Given the description of an element on the screen output the (x, y) to click on. 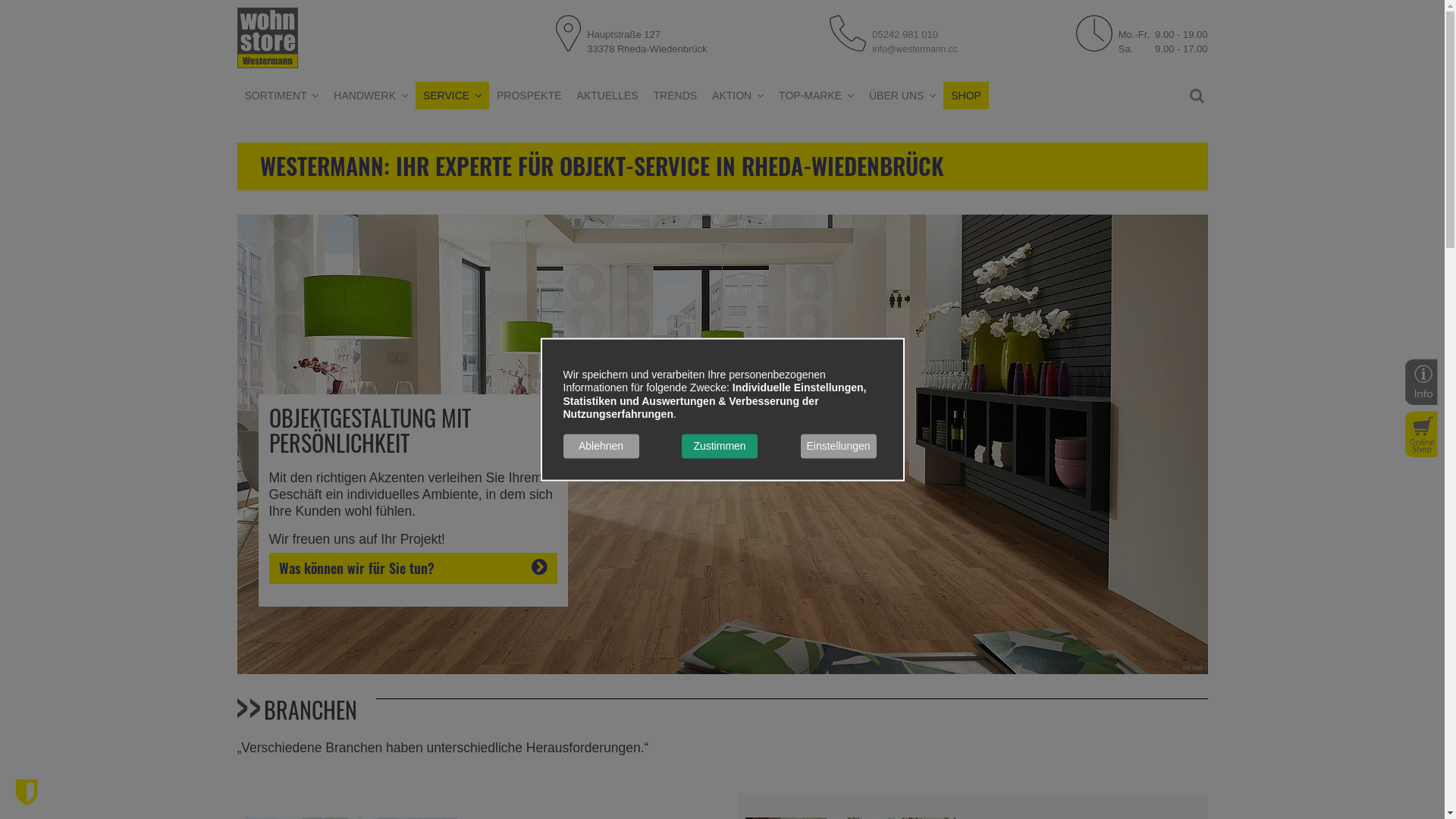
PROSPEKTE Element type: text (529, 95)
AKTION Element type: text (737, 95)
HANDWERK Element type: text (370, 95)
SHOP Element type: text (965, 95)
TOP-MARKE Element type: text (816, 95)
Shop Element type: hover (1416, 433)
Info Element type: hover (1416, 381)
SORTIMENT Element type: text (281, 95)
Zustimmen Element type: text (719, 445)
info@westermann.cc Element type: text (914, 56)
Einstellungen Element type: text (838, 445)
05242 981 010 Element type: text (905, 34)
Ablehnen Element type: text (600, 445)
Westermann GmbH & Co. KG Element type: hover (266, 37)
TRENDS Element type: text (675, 95)
SERVICE Element type: text (452, 95)
AKTUELLES Element type: text (607, 95)
